Given the description of an element on the screen output the (x, y) to click on. 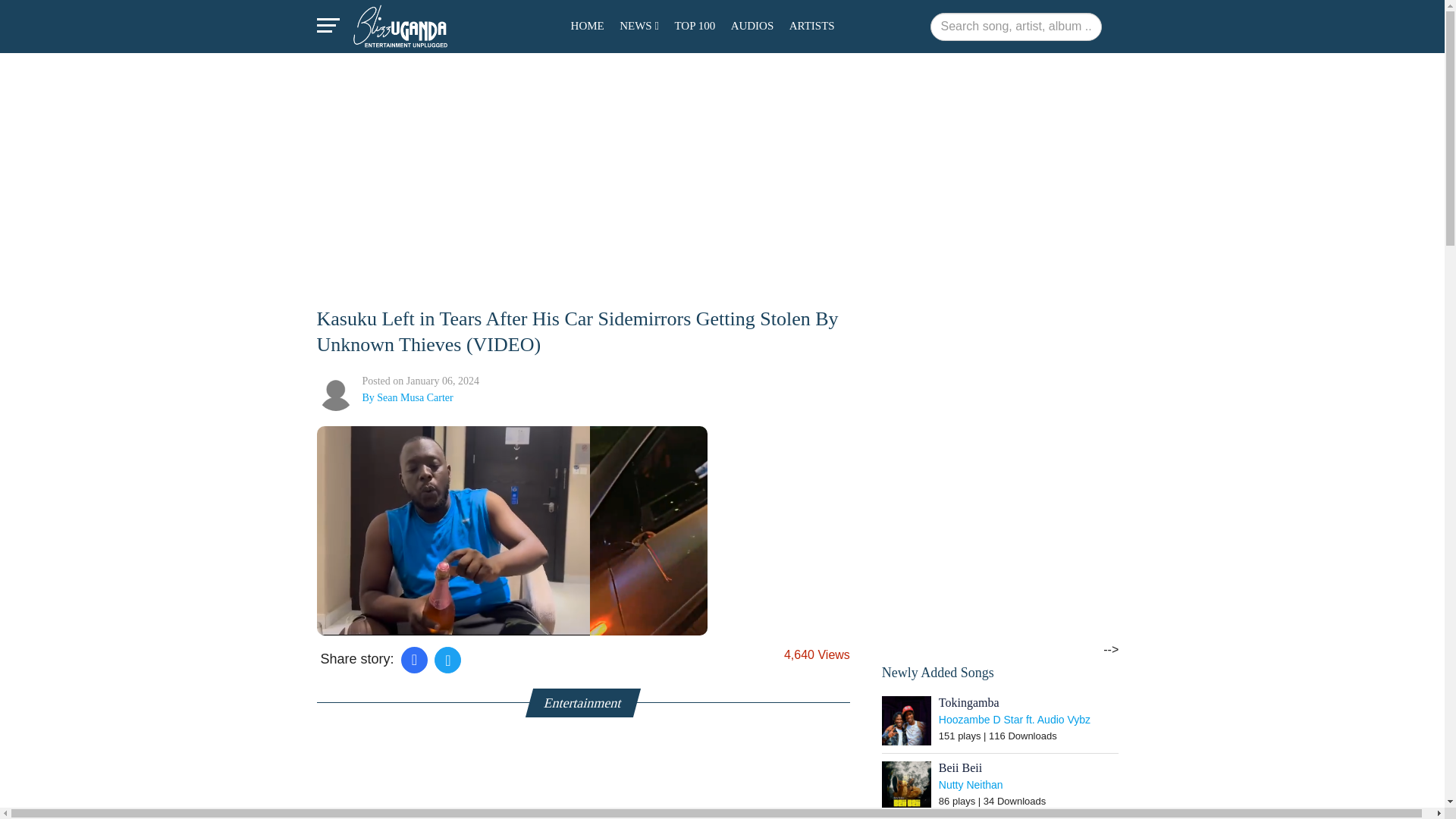
HOME (587, 24)
NEWS (638, 24)
Tokingamba (906, 720)
Beii Beii (906, 785)
